Given the description of an element on the screen output the (x, y) to click on. 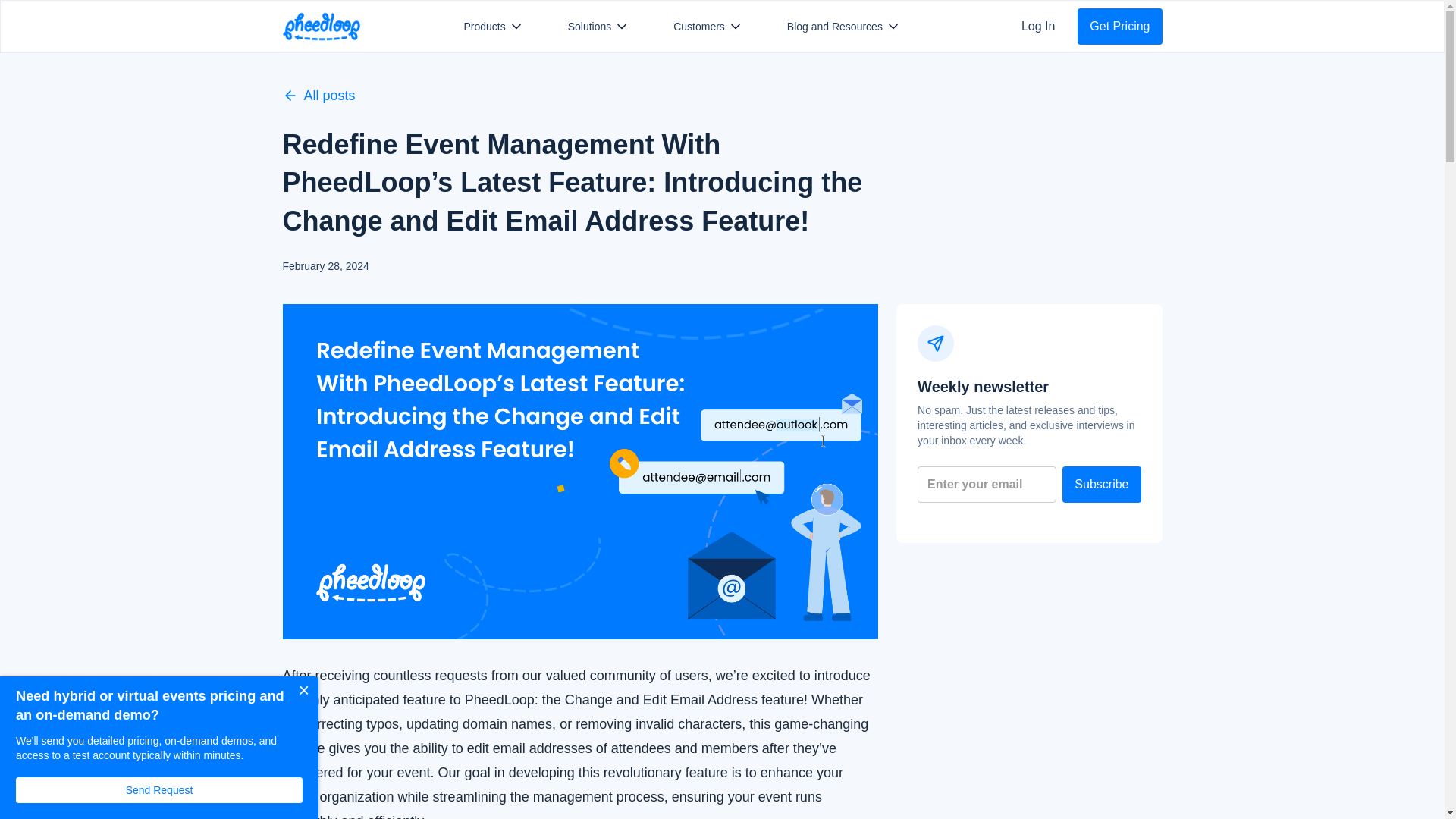
Get Pricing (1119, 26)
Log In (1037, 26)
Subscribe (1101, 484)
